Given the description of an element on the screen output the (x, y) to click on. 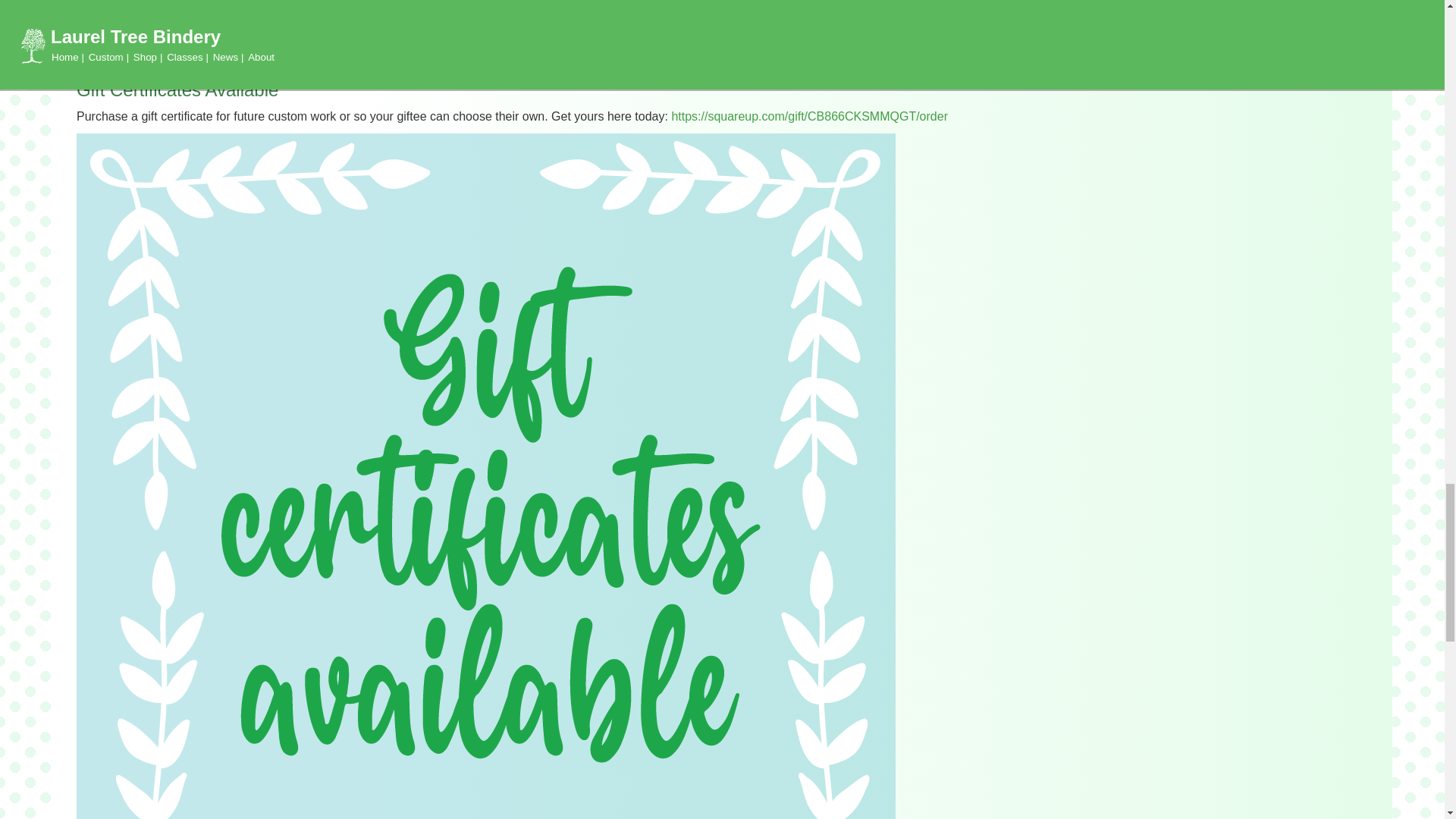
Shop for one of a kind, earth friendly books today (474, 56)
